Given the description of an element on the screen output the (x, y) to click on. 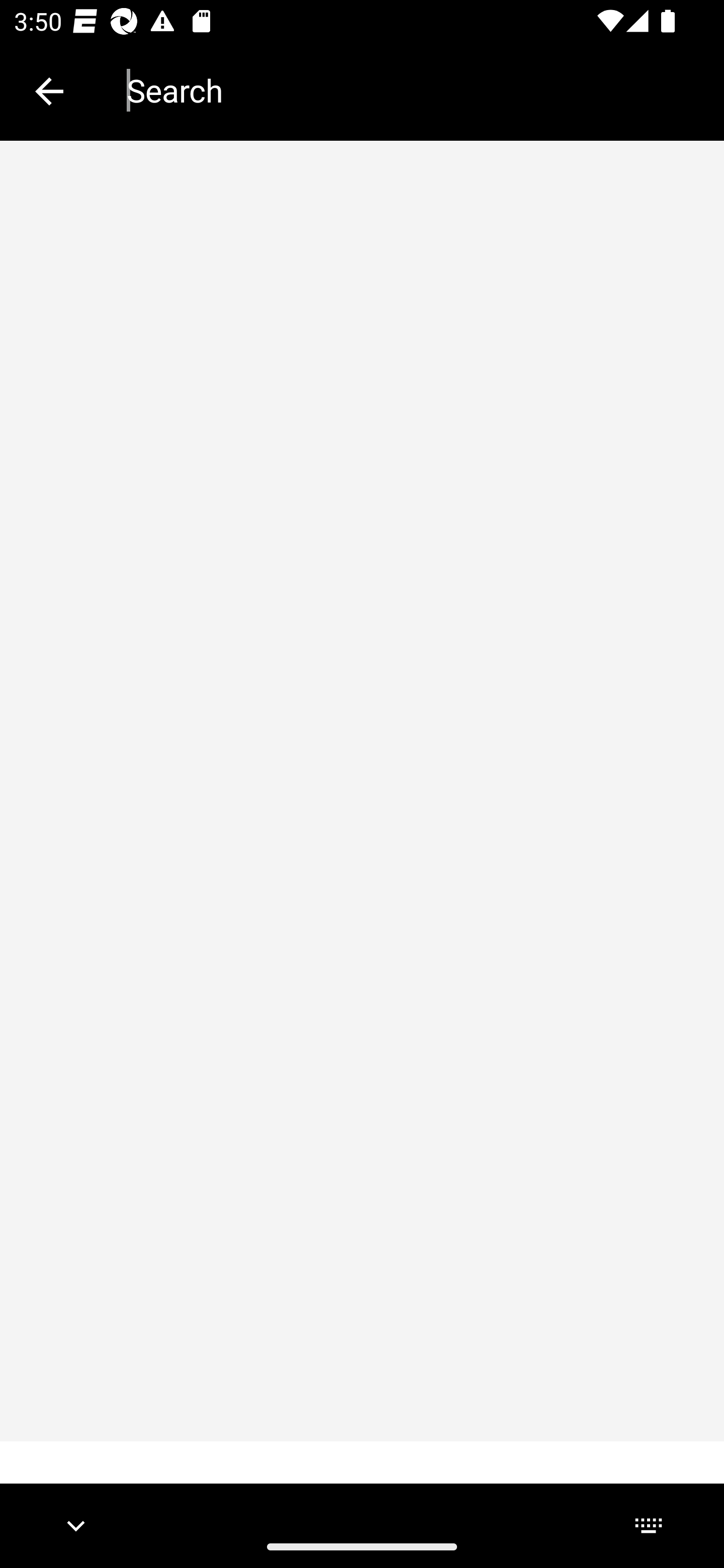
Collapse (49, 91)
Search (411, 90)
